Given the description of an element on the screen output the (x, y) to click on. 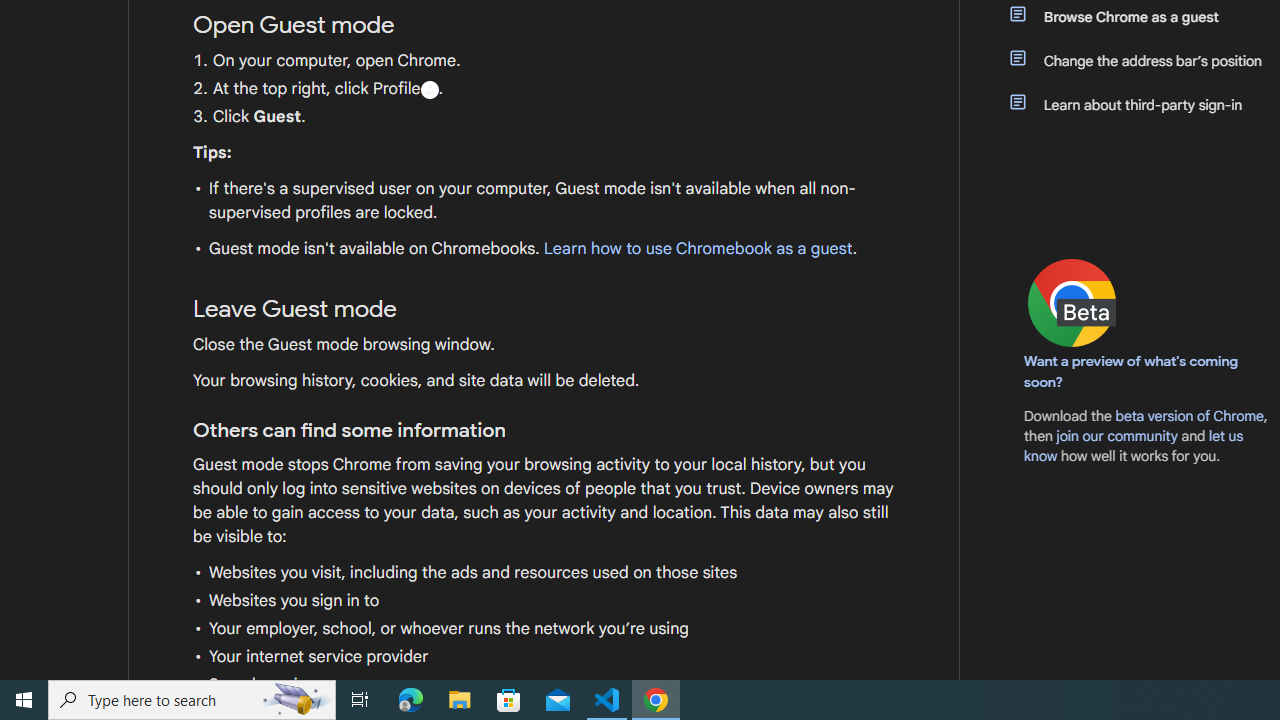
beta version of Chrome (1189, 415)
let us know (1134, 445)
Learn how to use Chromebook as a guest (697, 249)
Chrome Beta logo (1072, 302)
join our community (1116, 435)
Profile (429, 89)
Want a preview of what's coming soon? (1131, 371)
